Given the description of an element on the screen output the (x, y) to click on. 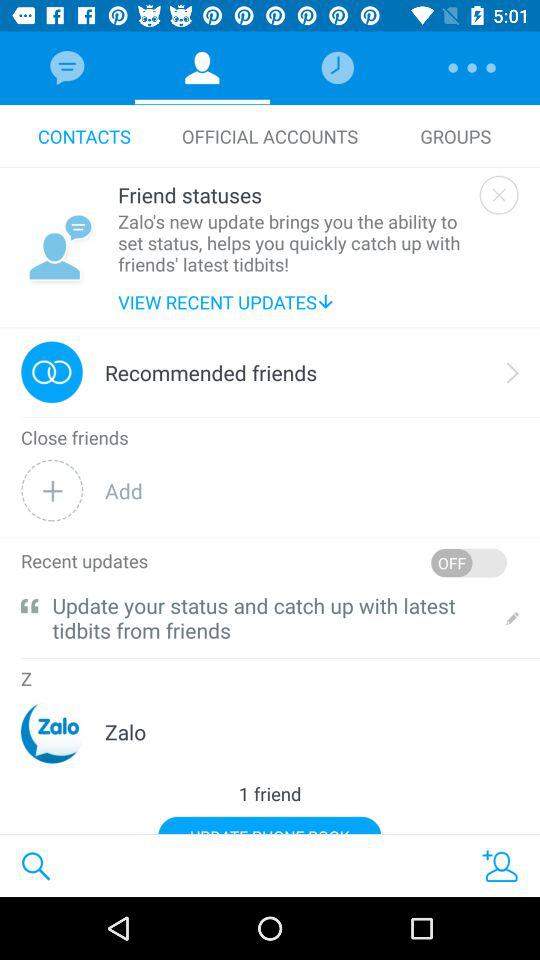
launch the item above the friend statuses item (269, 136)
